Given the description of an element on the screen output the (x, y) to click on. 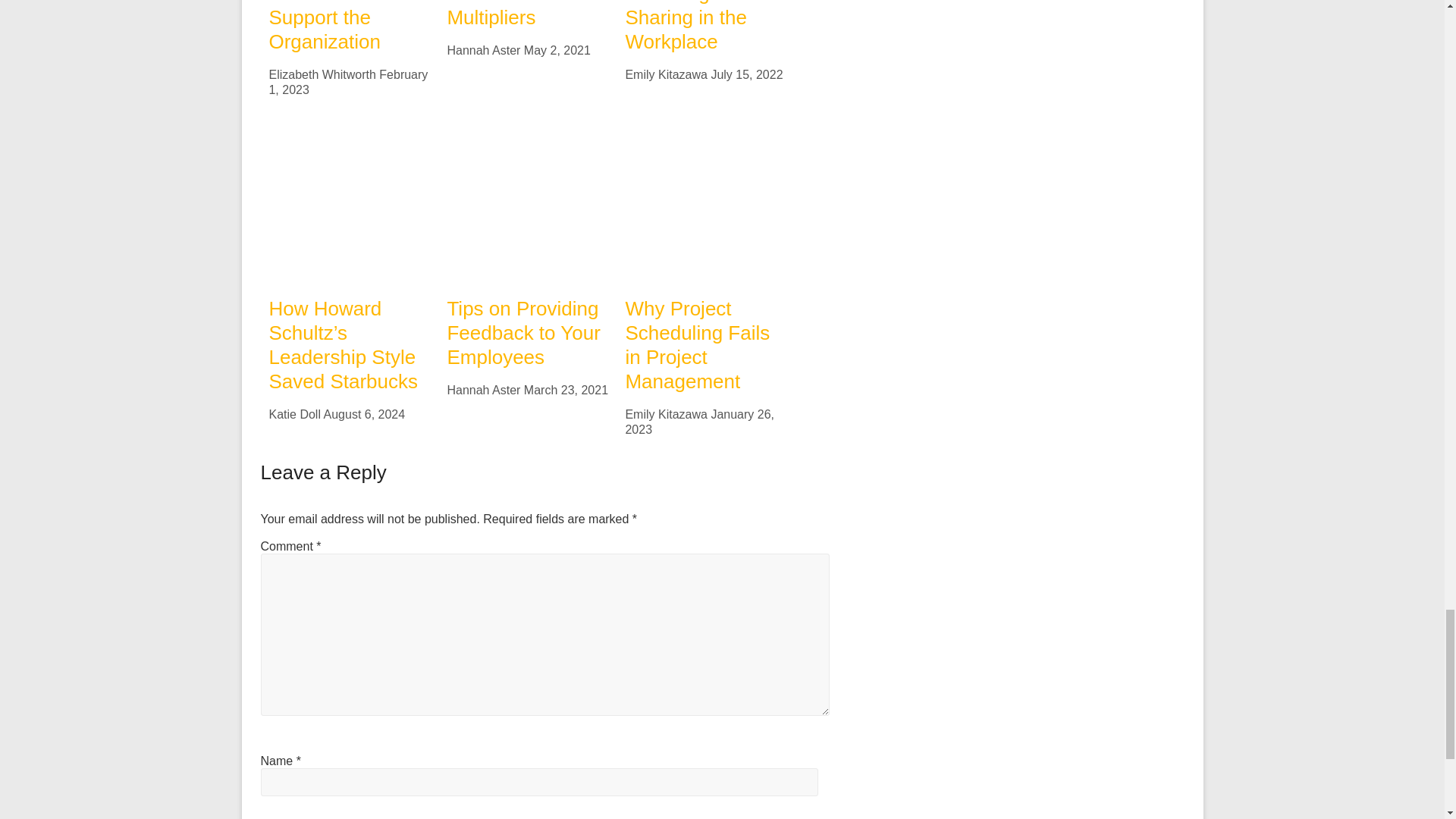
8:04 am (557, 50)
How to Encourage Idea Sharing in the Workplace (694, 26)
2:05 pm (746, 74)
Team Topologies: Platform Teams Support the Organization (344, 26)
The Top 4 Habits of Talent Multipliers (520, 14)
4:53 pm (347, 81)
